Given the description of an element on the screen output the (x, y) to click on. 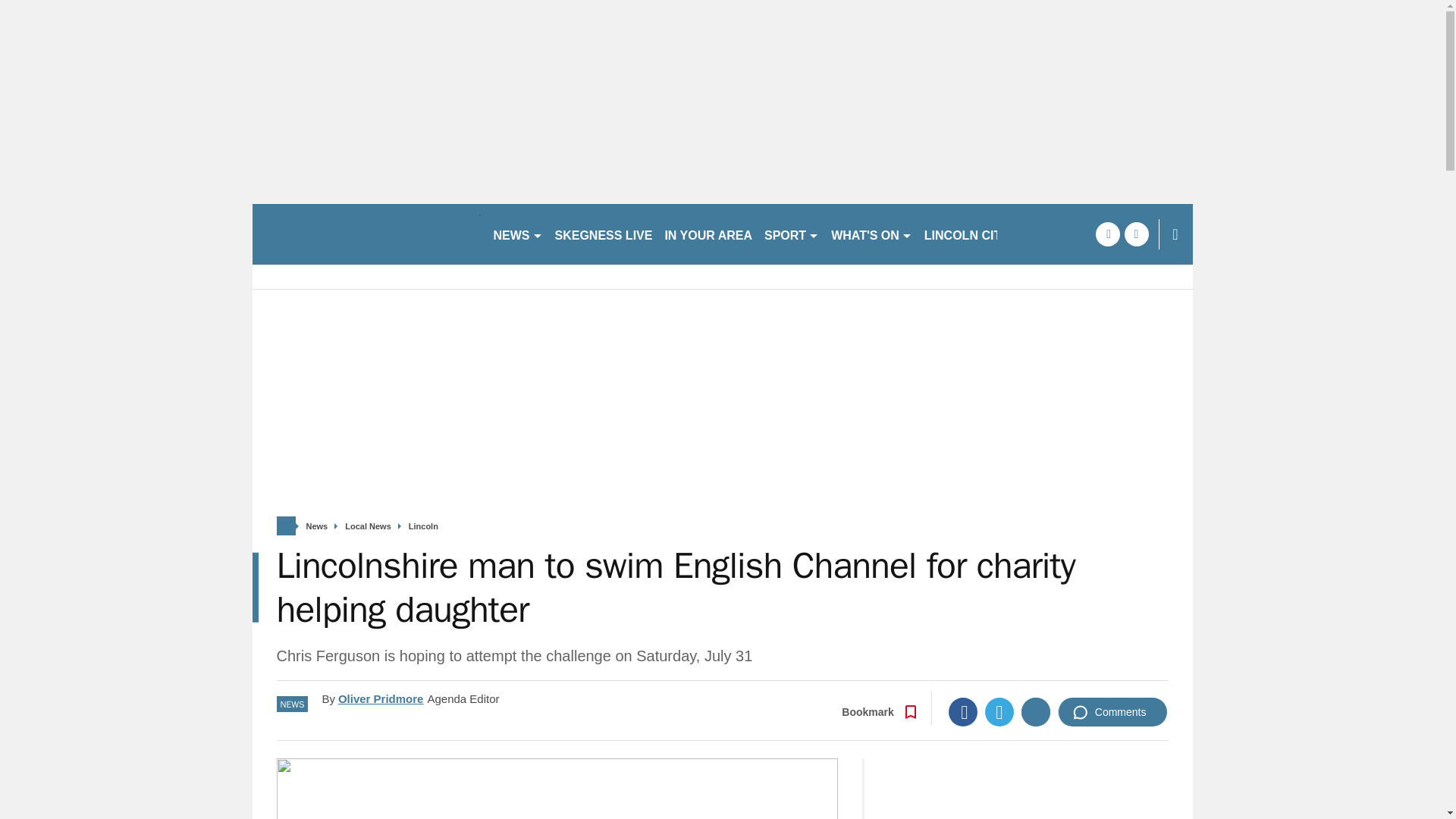
facebook (1106, 233)
Comments (1112, 711)
twitter (1136, 233)
WHAT'S ON (871, 233)
Facebook (962, 711)
Twitter (999, 711)
lincolnshirelive (365, 233)
IN YOUR AREA (708, 233)
NEWS (517, 233)
SPORT (791, 233)
LINCOLN CITY FC (975, 233)
SKEGNESS LIVE (603, 233)
